Given the description of an element on the screen output the (x, y) to click on. 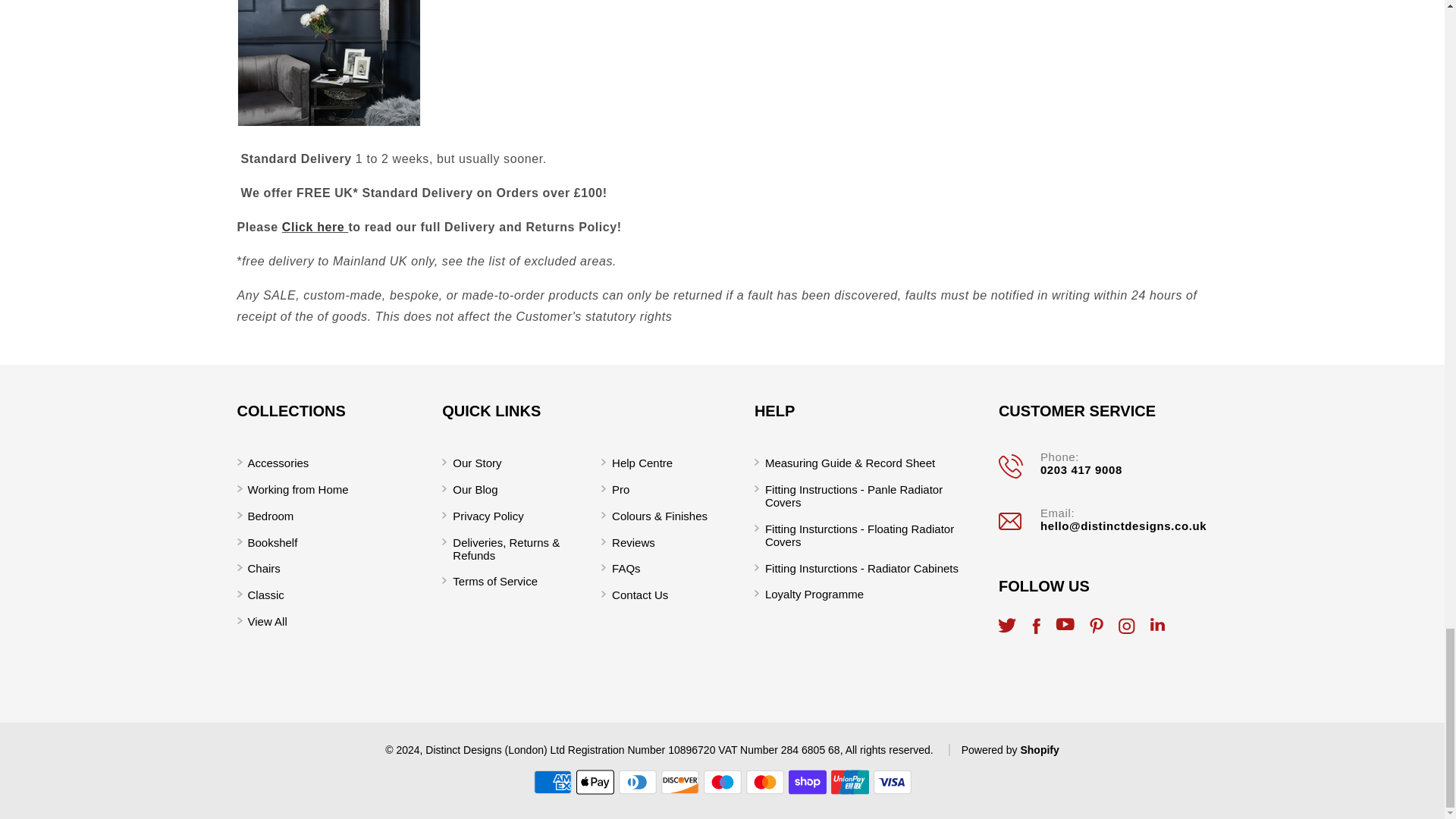
Maestro (722, 781)
Discover (679, 781)
Mastercard (764, 781)
American Express (553, 781)
Shop Pay (808, 781)
Diners Club (637, 781)
Apple Pay (595, 781)
Visa (892, 781)
Union Pay (850, 781)
